Given the description of an element on the screen output the (x, y) to click on. 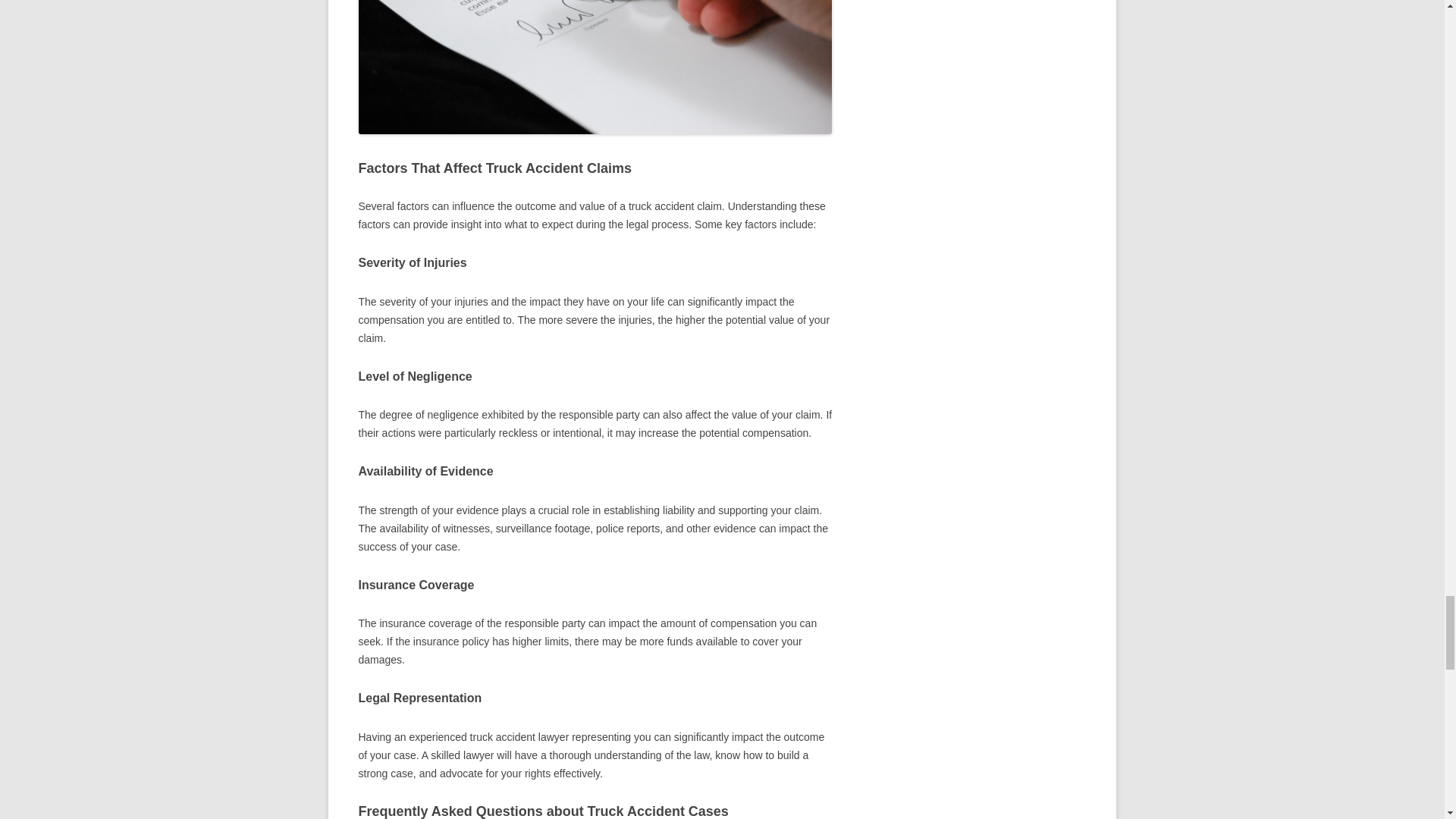
Truck Accident Lawyer Maeser Utah (594, 67)
